Given the description of an element on the screen output the (x, y) to click on. 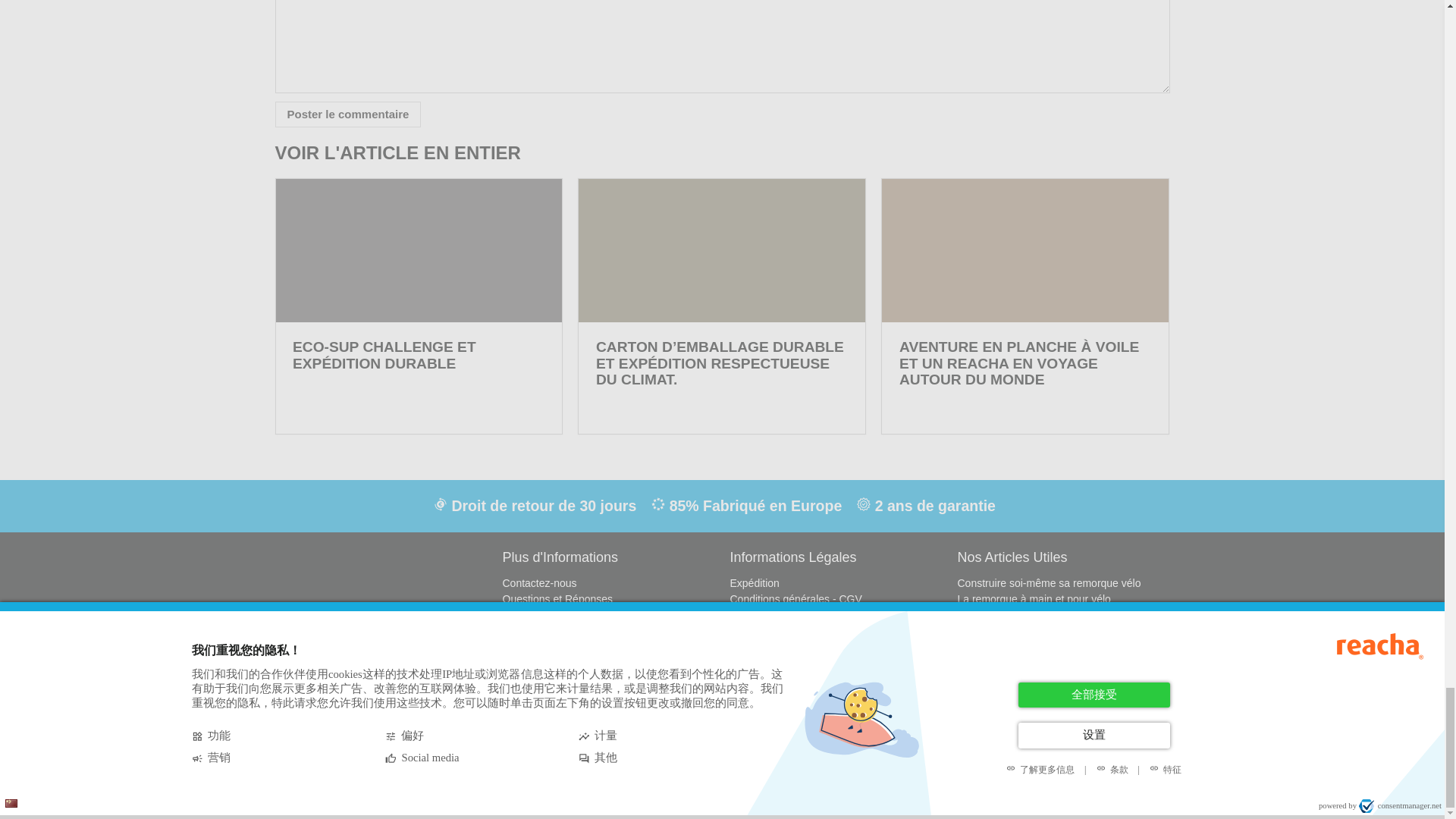
Poster le commentaire (347, 114)
